Given the description of an element on the screen output the (x, y) to click on. 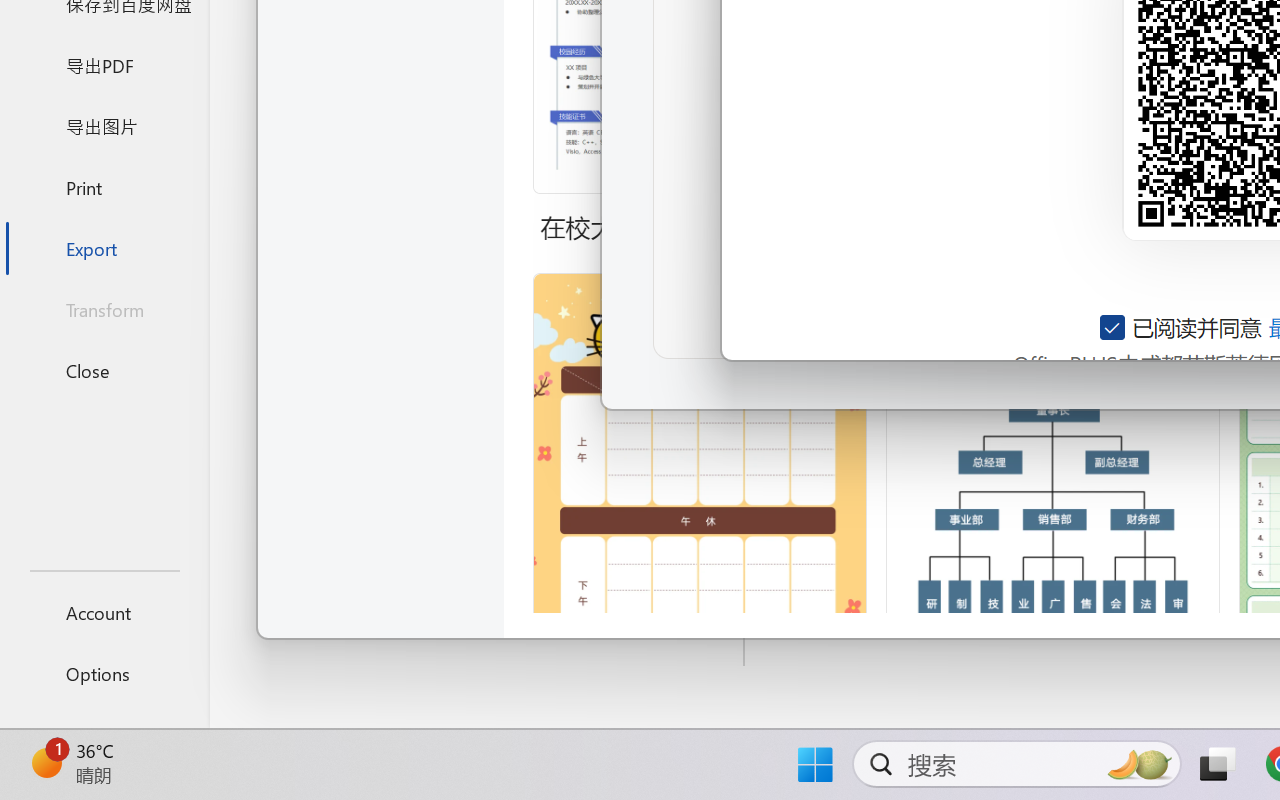
Account (104, 612)
Options (104, 673)
Export (104, 248)
Print (104, 186)
AutomationID: checkbox-14 (1114, 327)
